Given the description of an element on the screen output the (x, y) to click on. 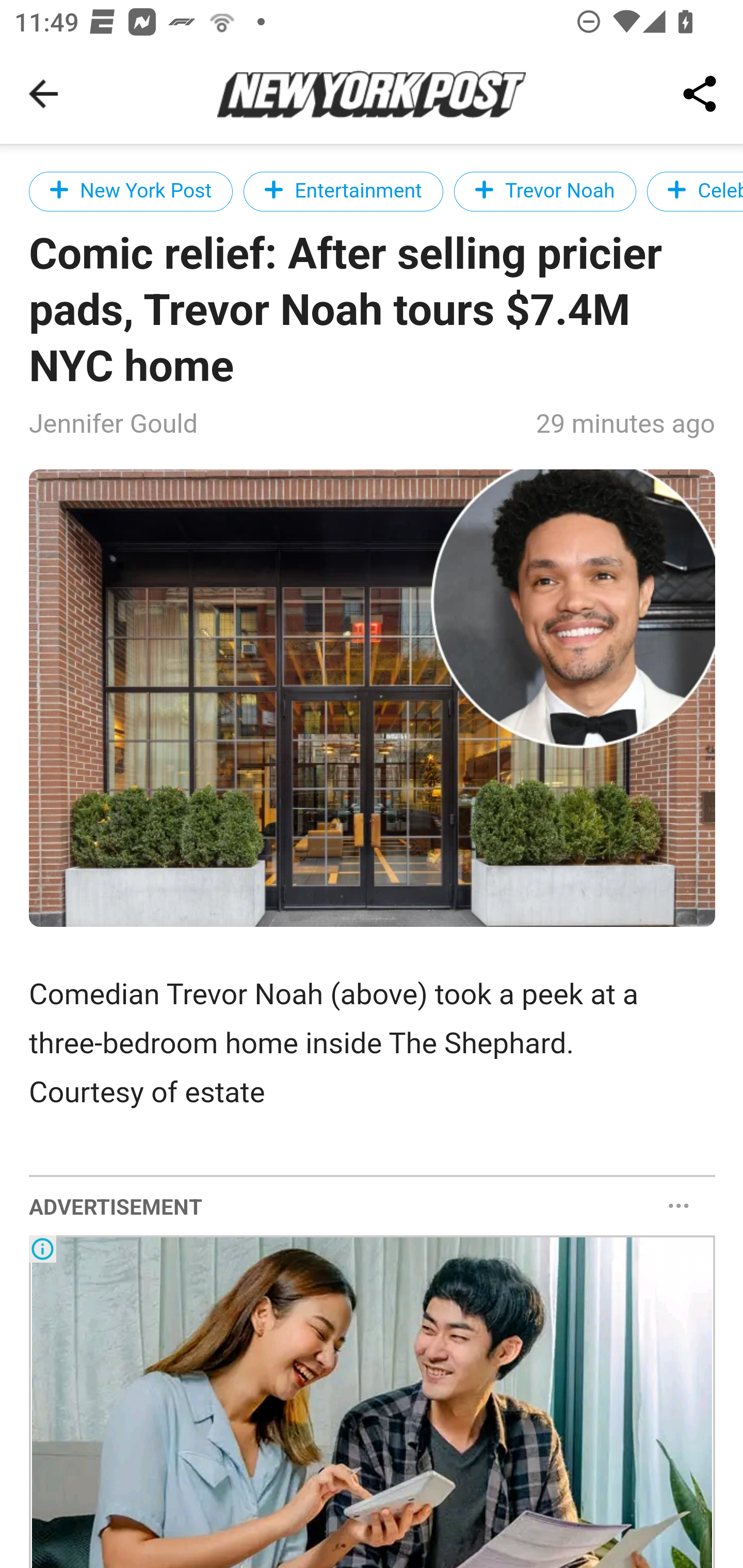
New York Post (131, 191)
Entertainment (343, 191)
Trevor Noah (545, 191)
